Given the description of an element on the screen output the (x, y) to click on. 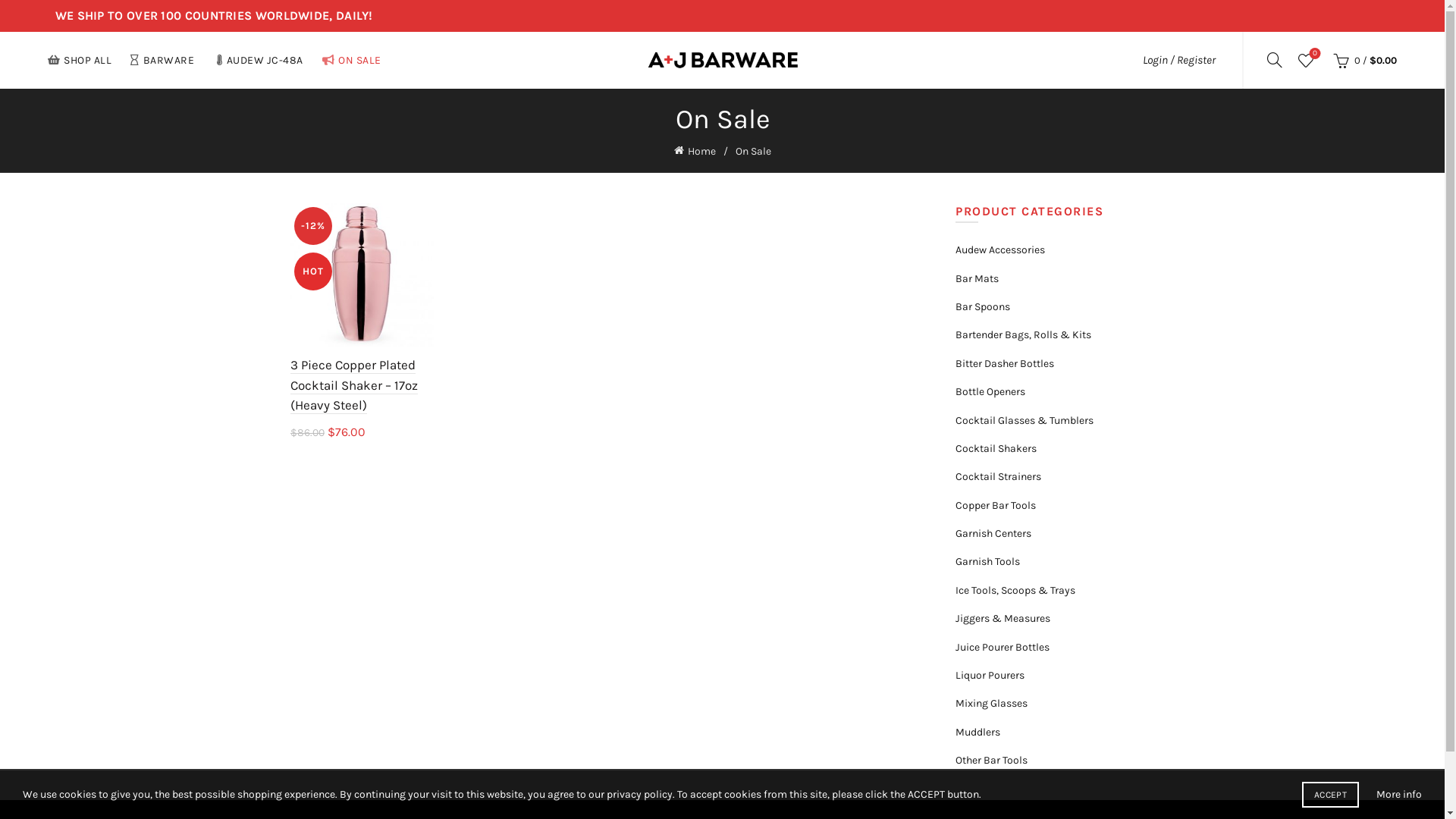
SHOP ALL Element type: text (79, 59)
Jiggers & Measures Element type: text (1002, 617)
Cocktail Strainers Element type: text (998, 476)
Garnish Tools Element type: text (987, 561)
Bar Mats Element type: text (976, 278)
Juice Pourer Bottles Element type: text (1002, 646)
AUDEW JC-48A Element type: text (259, 59)
More info Element type: text (1398, 794)
-12%
HOT Element type: text (361, 274)
Muddlers Element type: text (977, 731)
Bottle Openers Element type: text (990, 391)
0 / $0.00 Element type: text (1362, 59)
Home Element type: text (703, 150)
BARWARE Element type: text (161, 59)
Garnish Centers Element type: text (993, 533)
ON SALE Element type: text (351, 59)
Search Element type: text (30, 45)
Wishlist
0 Element type: text (1305, 59)
Liquor Pourers Element type: text (989, 674)
Login / Register Element type: text (1178, 59)
Bitter Dasher Bottles Element type: text (1004, 363)
Ice Tools, Scoops & Trays Element type: text (1015, 589)
Bartender Bags, Rolls & Kits Element type: text (1023, 334)
Audew Accessories Element type: text (999, 249)
Cocktail Glasses & Tumblers Element type: text (1024, 420)
Copper Bar Tools Element type: text (995, 504)
ACCEPT Element type: text (1330, 794)
Other Bar Tools Element type: text (991, 759)
Bar Spoons Element type: text (982, 306)
Mixing Glasses Element type: text (991, 702)
Cocktail Shakers Element type: text (995, 448)
